Given the description of an element on the screen output the (x, y) to click on. 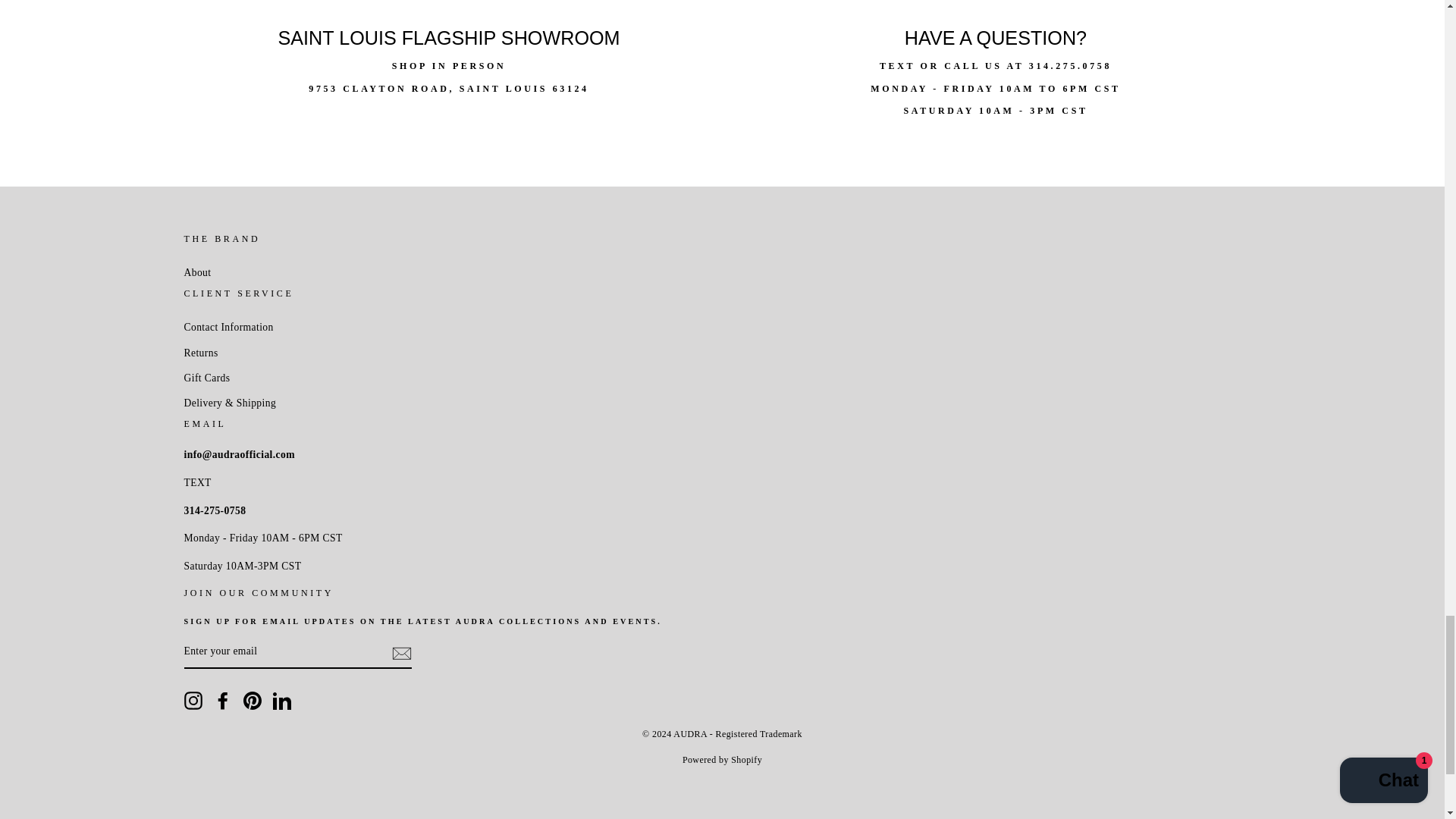
AUDRA on LinkedIn (282, 700)
AUDRA on Instagram (192, 700)
AUDRA on Facebook (222, 700)
AUDRA on Pinterest (251, 700)
